Given the description of an element on the screen output the (x, y) to click on. 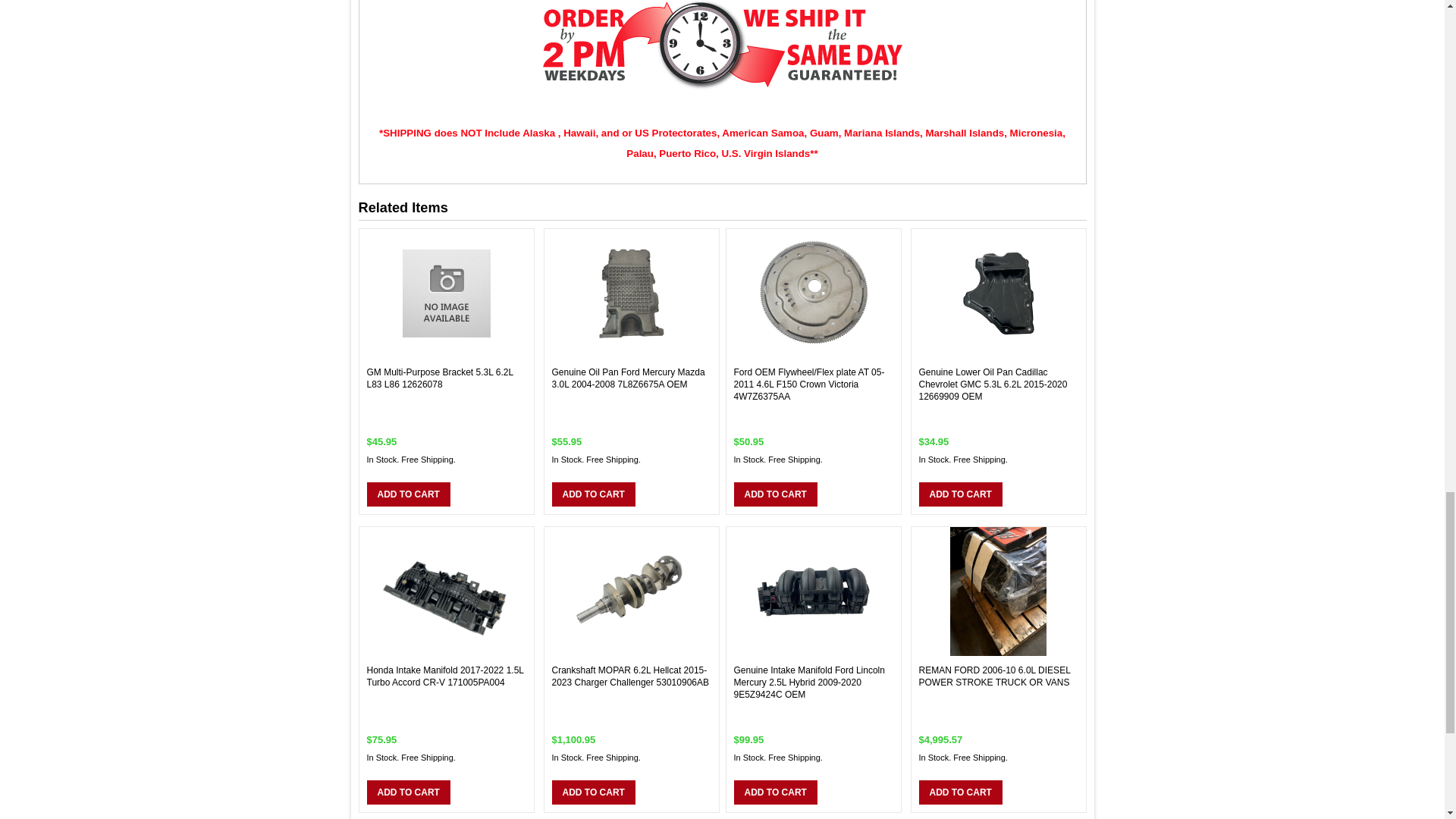
Add To Cart (407, 792)
Add To Cart (960, 494)
Add To Cart (774, 494)
Add To Cart (407, 494)
Add To Cart (592, 792)
Add To Cart (592, 494)
Add To Cart (960, 792)
Add To Cart (774, 792)
